Given the description of an element on the screen output the (x, y) to click on. 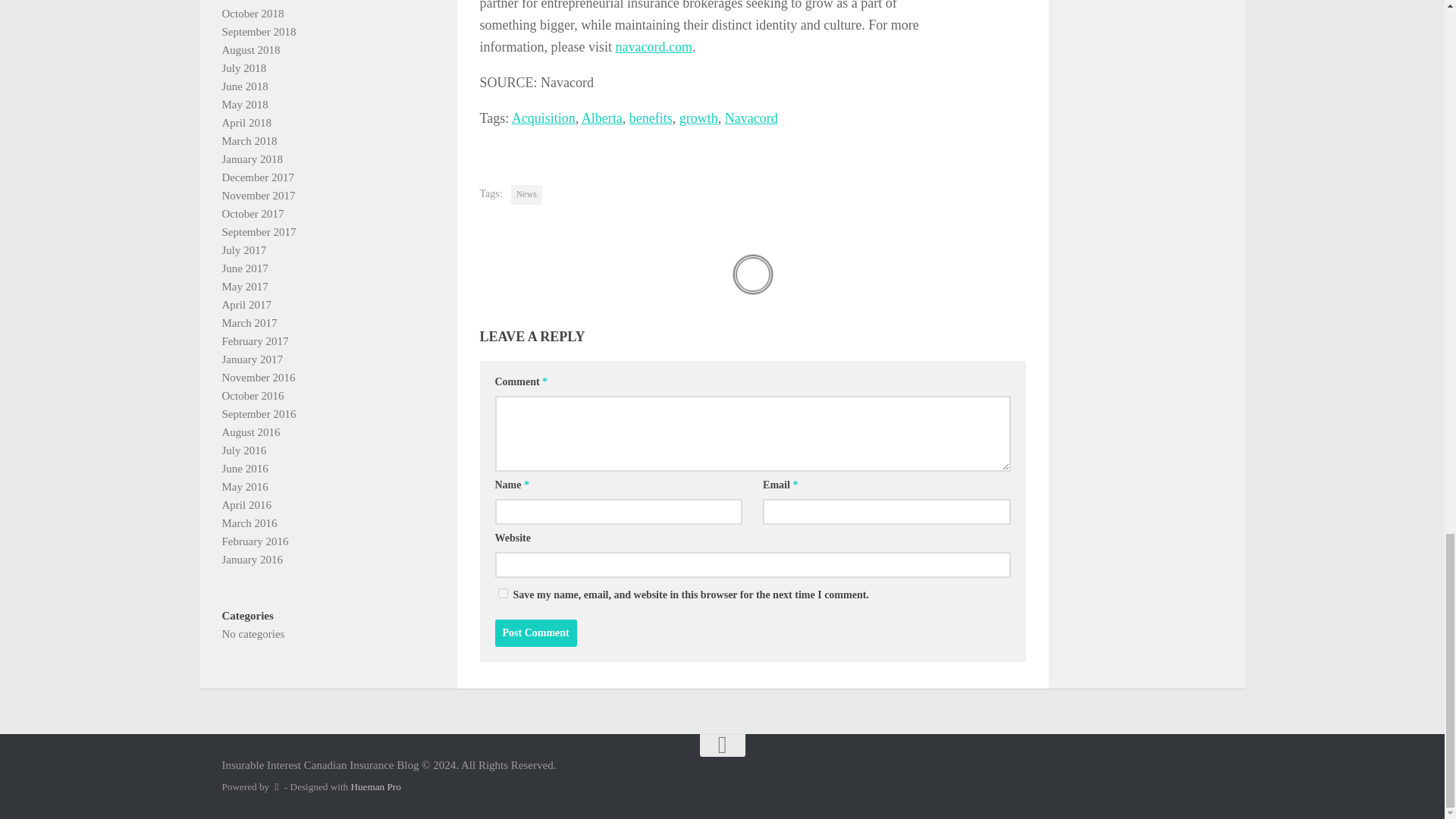
News (526, 194)
navacord.com (652, 46)
benefits (650, 118)
growth (698, 118)
Navacord (751, 118)
Alberta (601, 118)
yes (501, 593)
Post Comment (535, 633)
Hueman Pro (375, 786)
Acquisition (543, 118)
Post Comment (535, 633)
Powered by WordPress (275, 786)
